Given the description of an element on the screen output the (x, y) to click on. 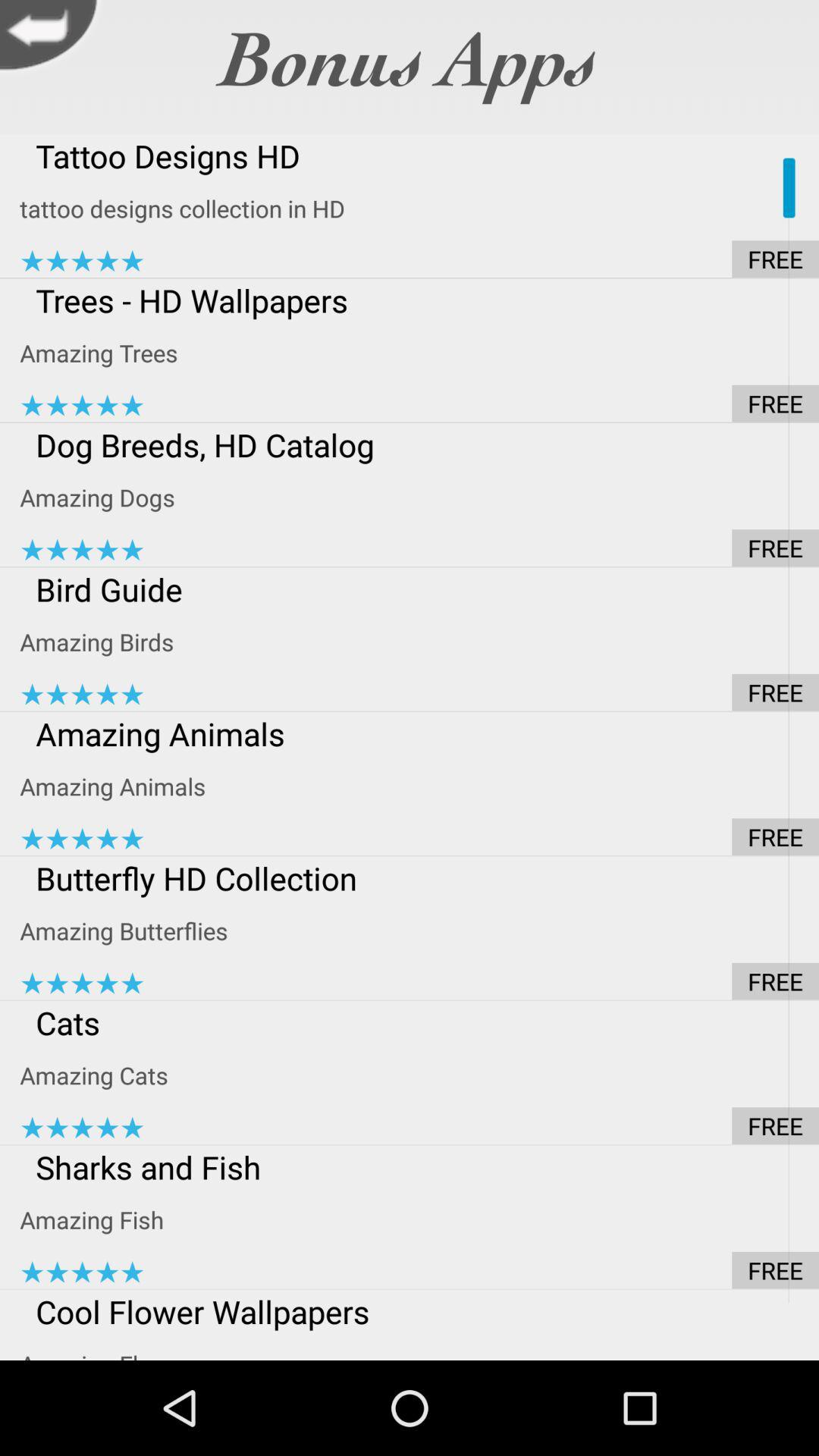
swipe until sharks and fish (419, 1166)
